Given the description of an element on the screen output the (x, y) to click on. 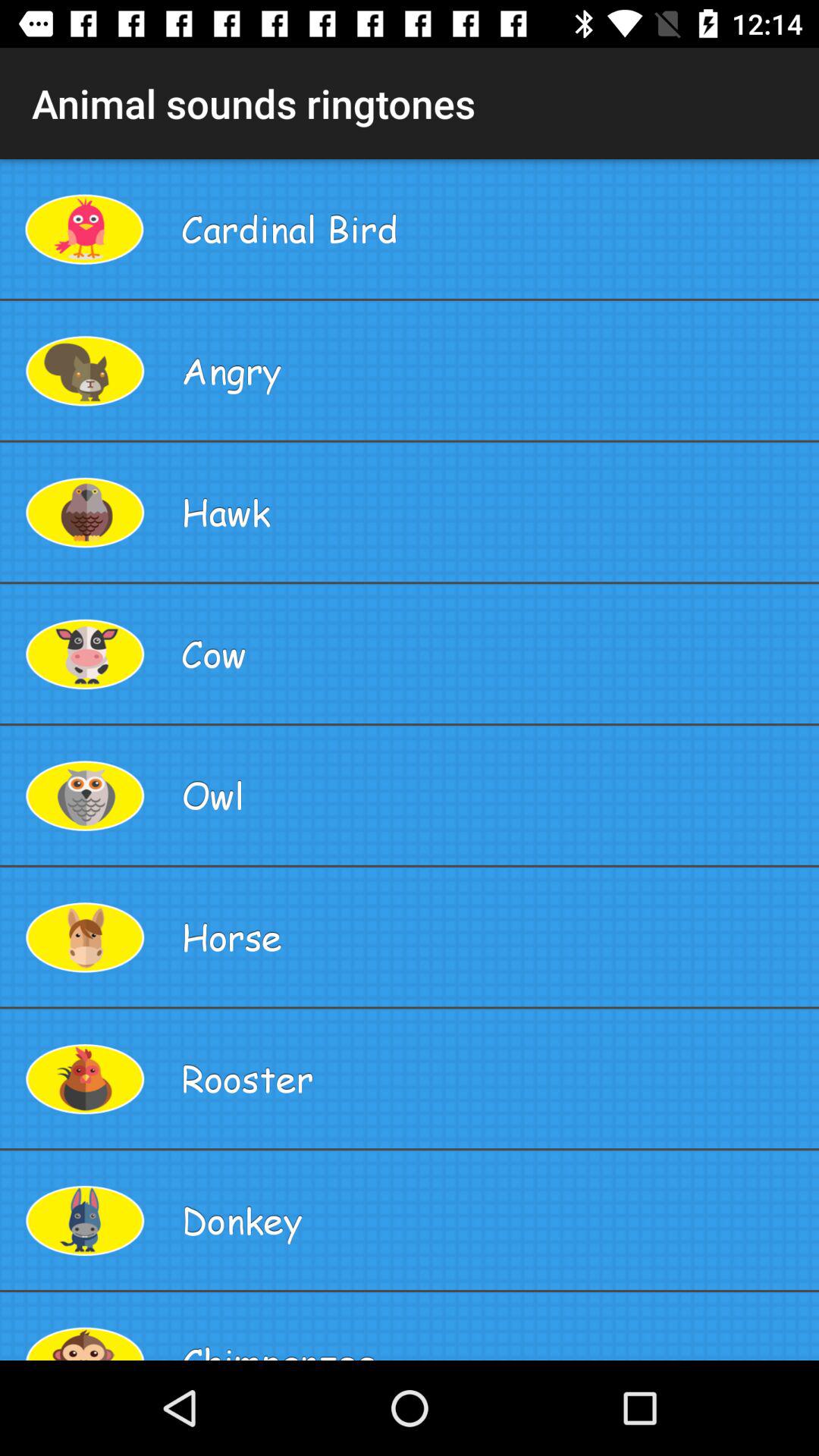
open cardinal bird icon (494, 228)
